Given the description of an element on the screen output the (x, y) to click on. 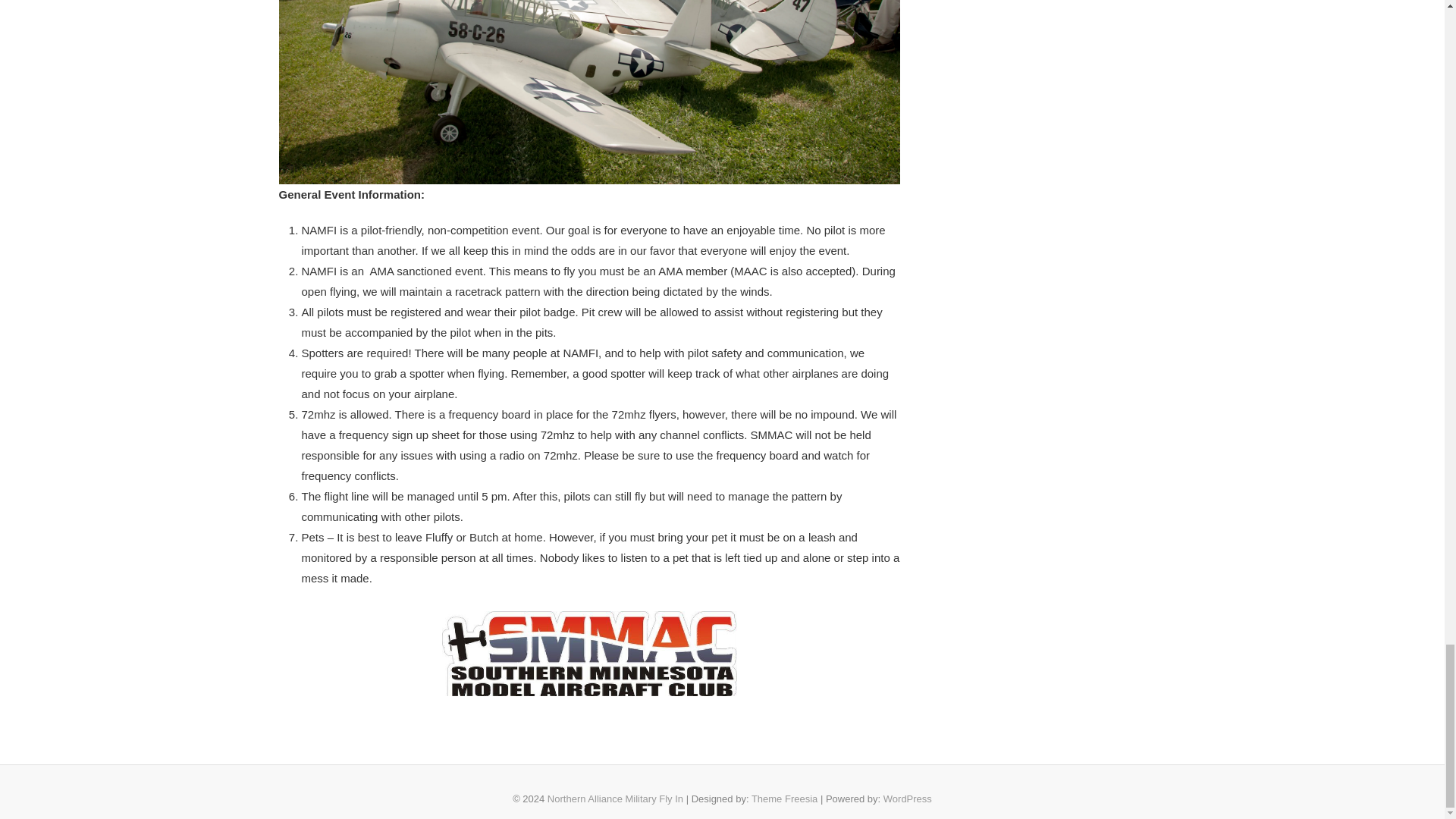
Theme Freesia (783, 798)
Theme Freesia (783, 798)
Northern Alliance Military Fly In (614, 798)
WordPress (907, 798)
Northern Alliance Military Fly In (614, 798)
WordPress (907, 798)
